Given the description of an element on the screen output the (x, y) to click on. 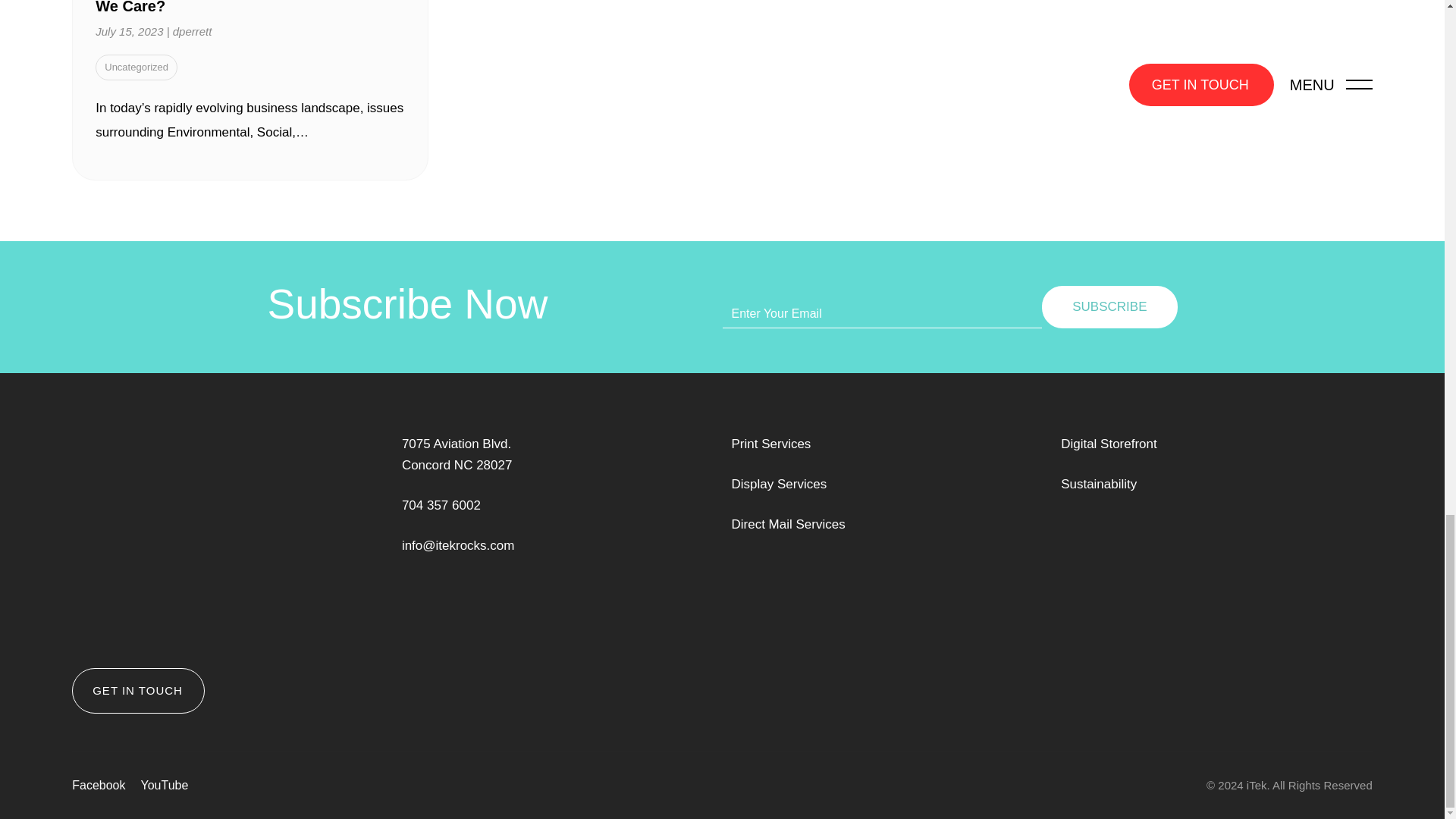
Subscribe (1109, 306)
704 357 6002 (440, 504)
Subscribe (1109, 306)
GET IN TOUCH (138, 690)
